Given the description of an element on the screen output the (x, y) to click on. 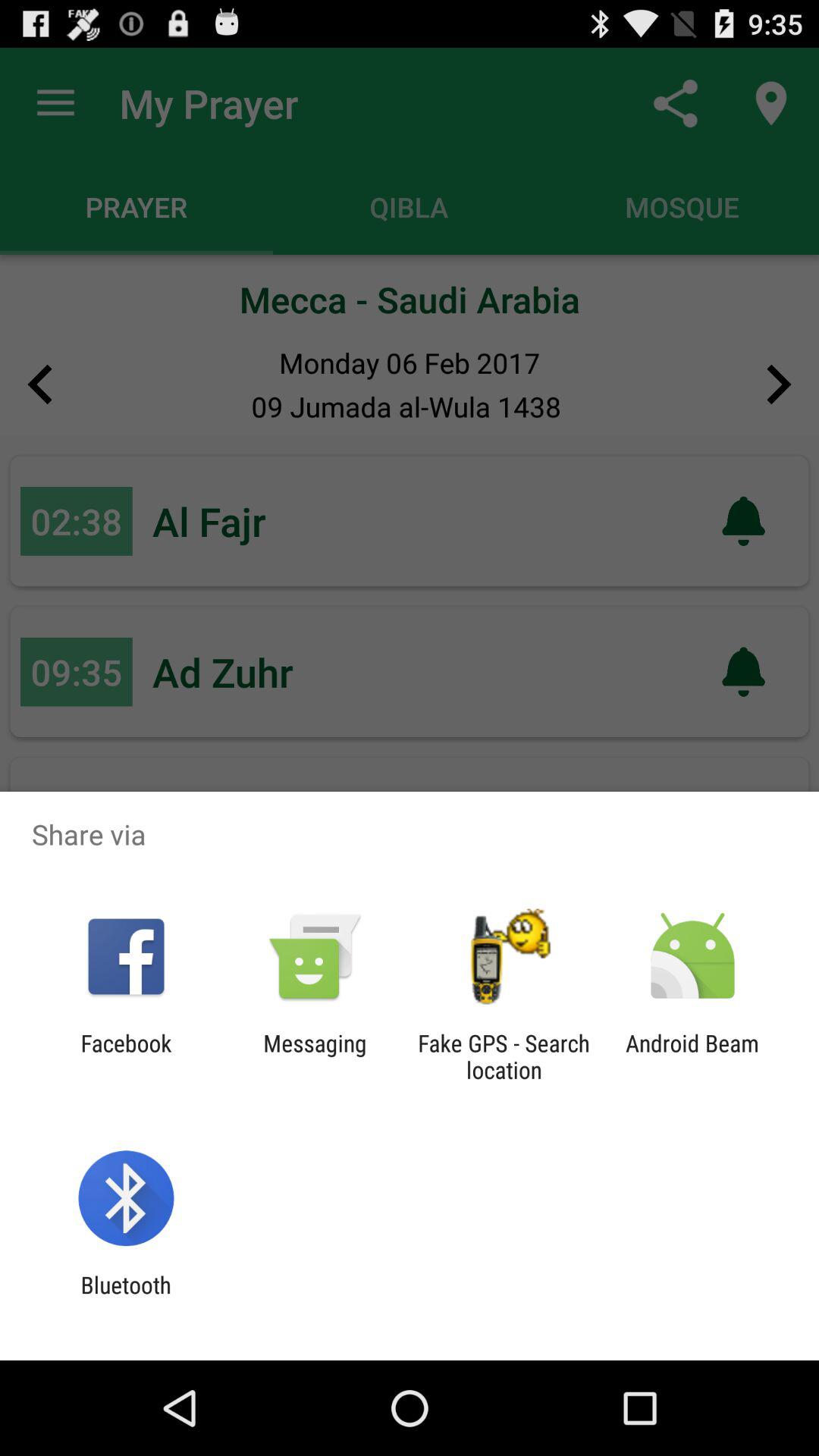
scroll until the android beam icon (692, 1056)
